Given the description of an element on the screen output the (x, y) to click on. 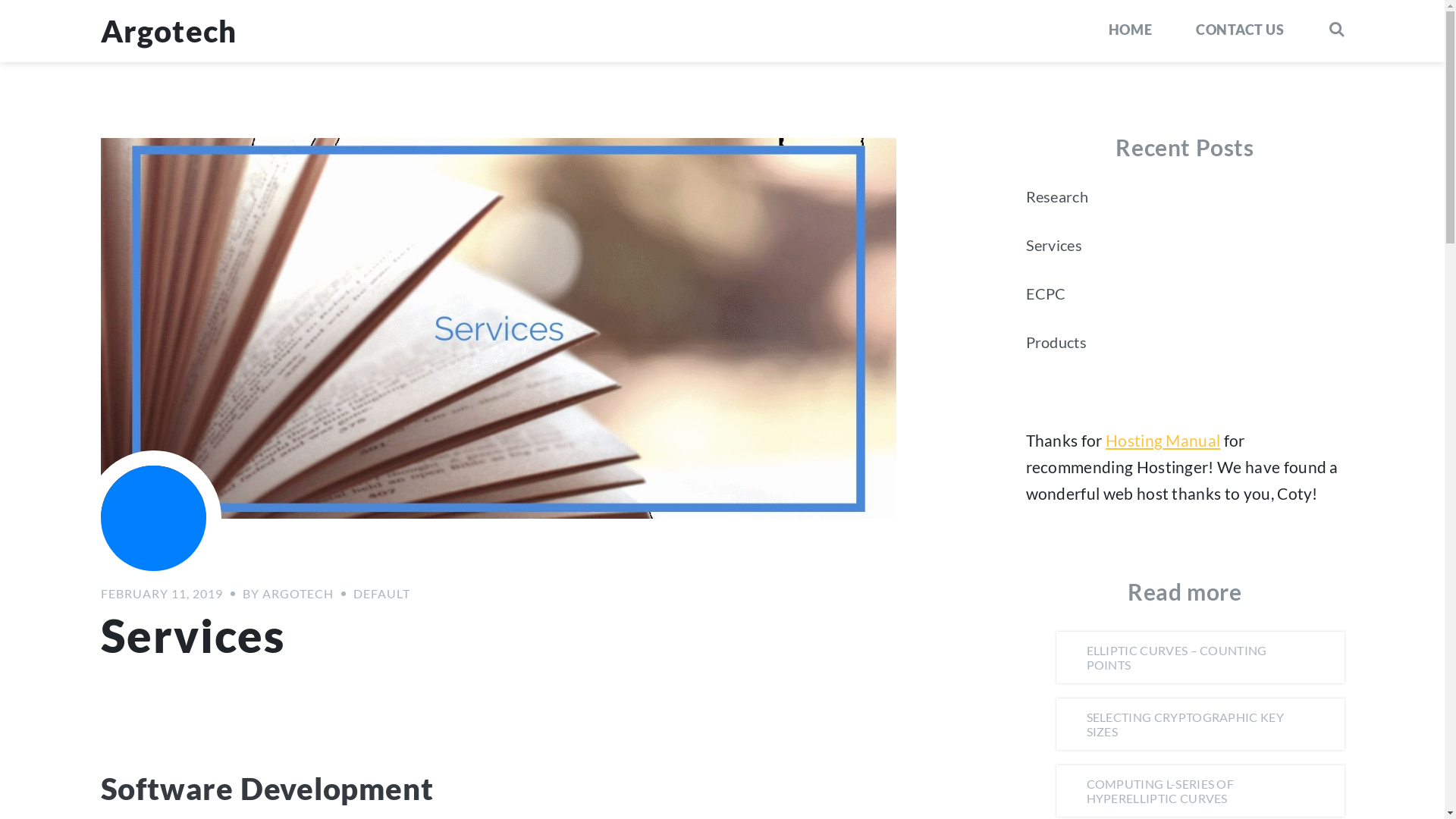
SELECTING CRYPTOGRAPHIC KEY SIZES Element type: text (1199, 723)
ARGOTECH Element type: text (297, 593)
CONTACT US Element type: text (1239, 29)
HOME Element type: text (1129, 29)
DEFAULT Element type: text (381, 593)
COMPUTING L-SERIES OF HYPERELLIPTIC CURVES Element type: text (1199, 790)
FEBRUARY 11, 2019 Element type: text (161, 593)
Argotech Element type: text (168, 30)
Hosting Manual Element type: text (1162, 439)
Products Element type: text (1055, 341)
Research Element type: text (1056, 196)
ECPC Element type: text (1045, 293)
Services Element type: text (1053, 244)
